Given the description of an element on the screen output the (x, y) to click on. 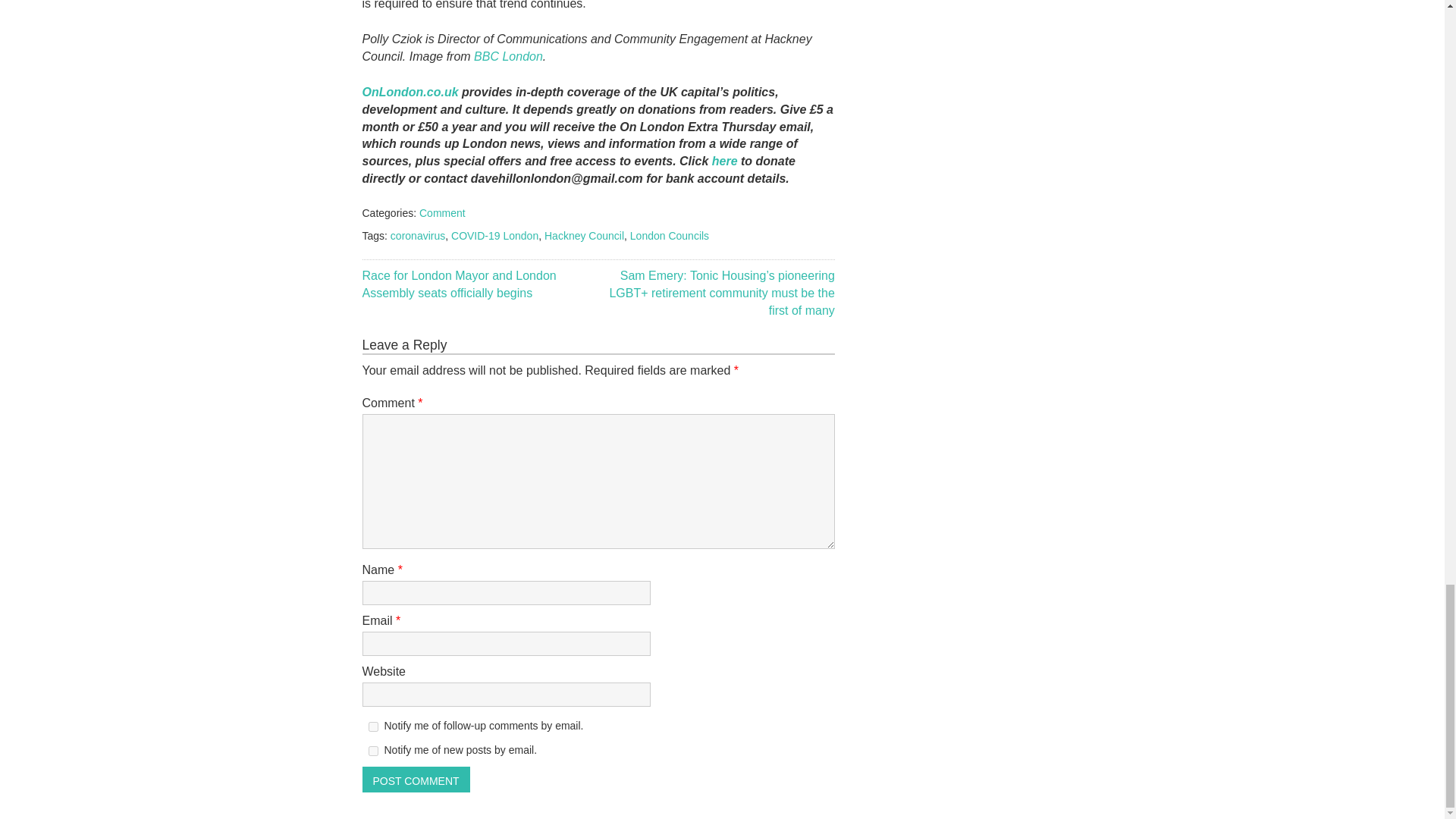
Post Comment (416, 779)
subscribe (373, 726)
subscribe (373, 750)
